Given the description of an element on the screen output the (x, y) to click on. 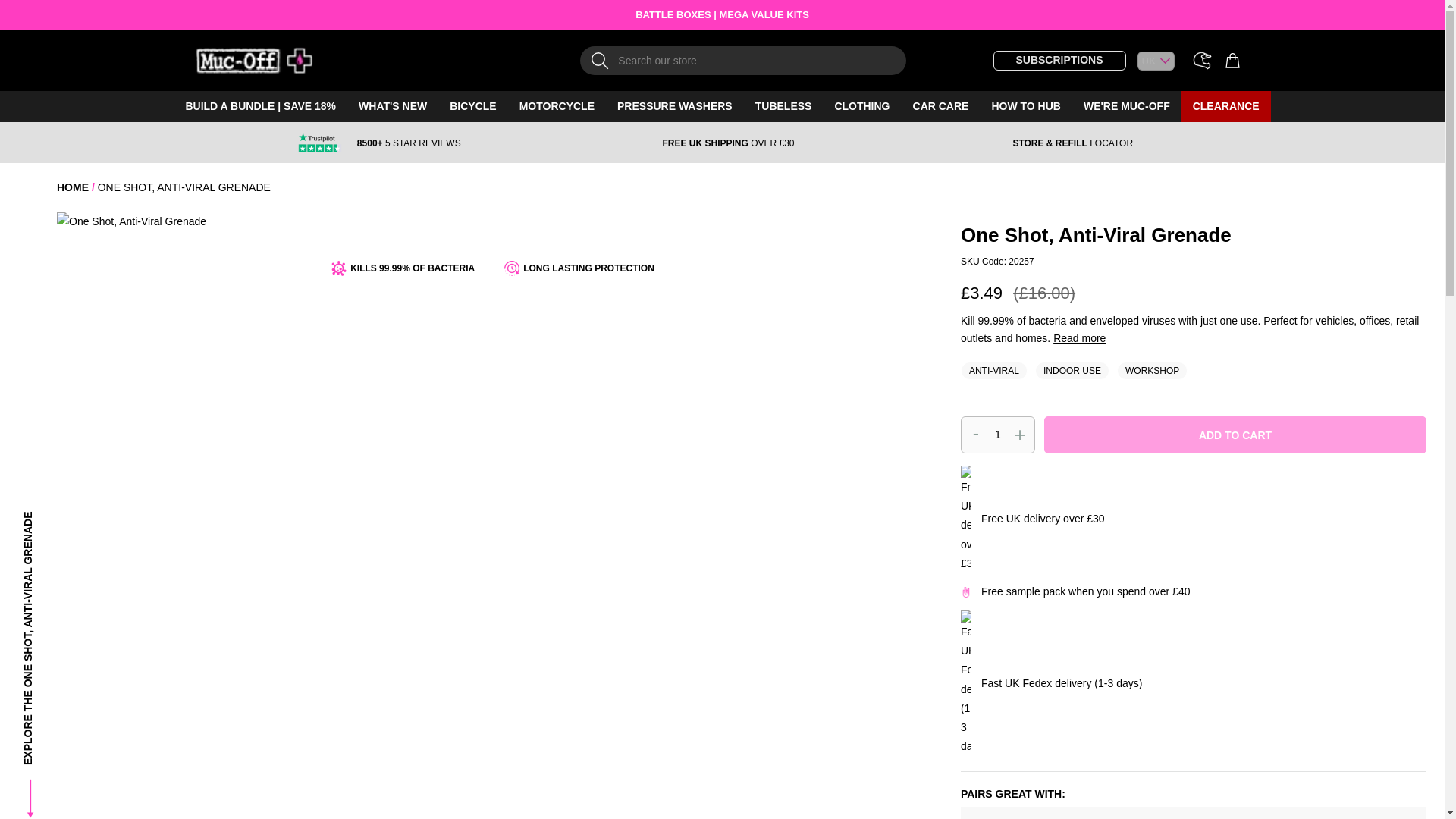
SUBSCRIPTIONS (1058, 60)
Skip to content (203, 55)
home (72, 186)
1 (997, 434)
